Given the description of an element on the screen output the (x, y) to click on. 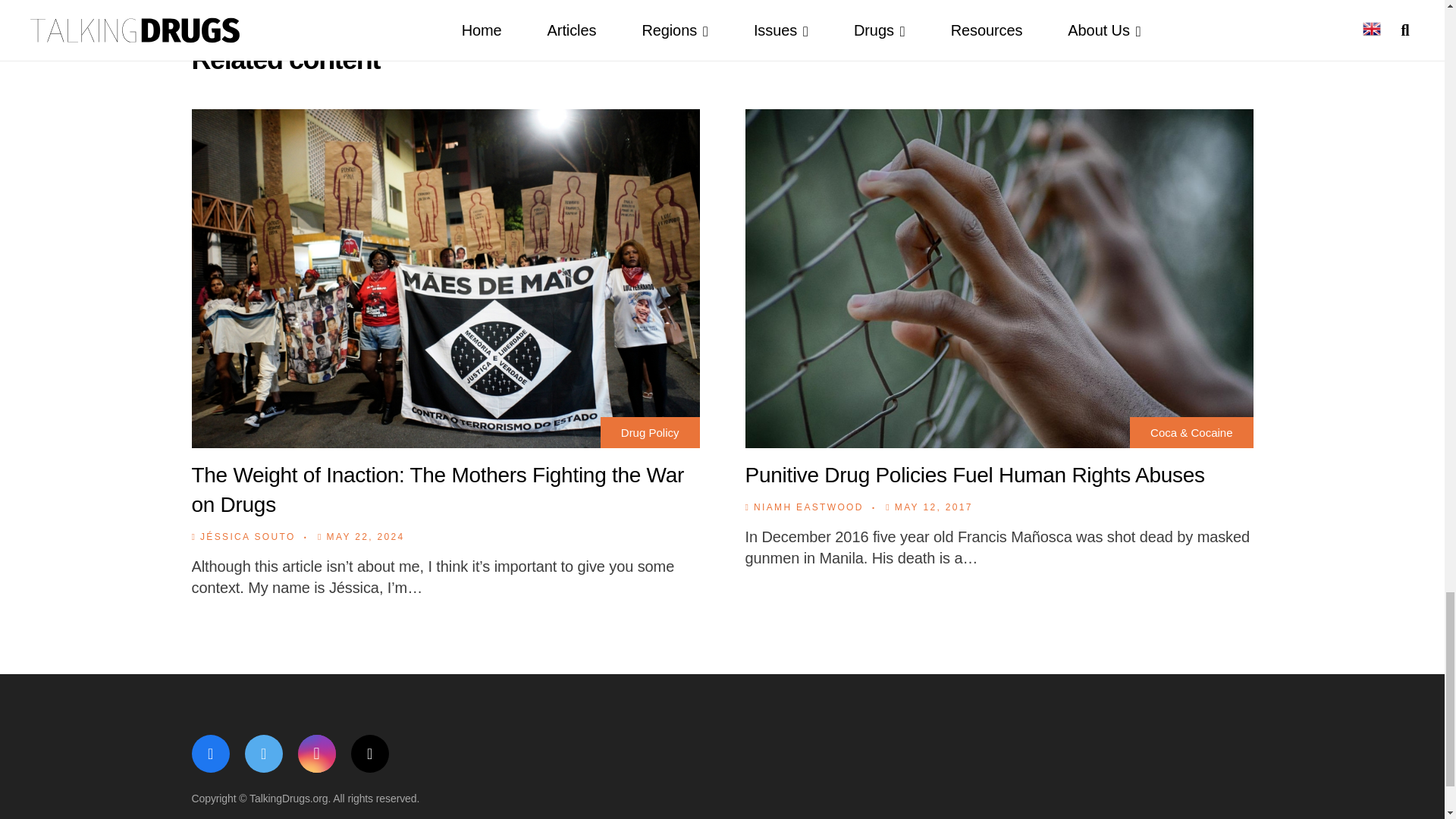
Instagram (315, 753)
Twitter (263, 753)
TikTok (369, 753)
Facebook (209, 753)
